Given the description of an element on the screen output the (x, y) to click on. 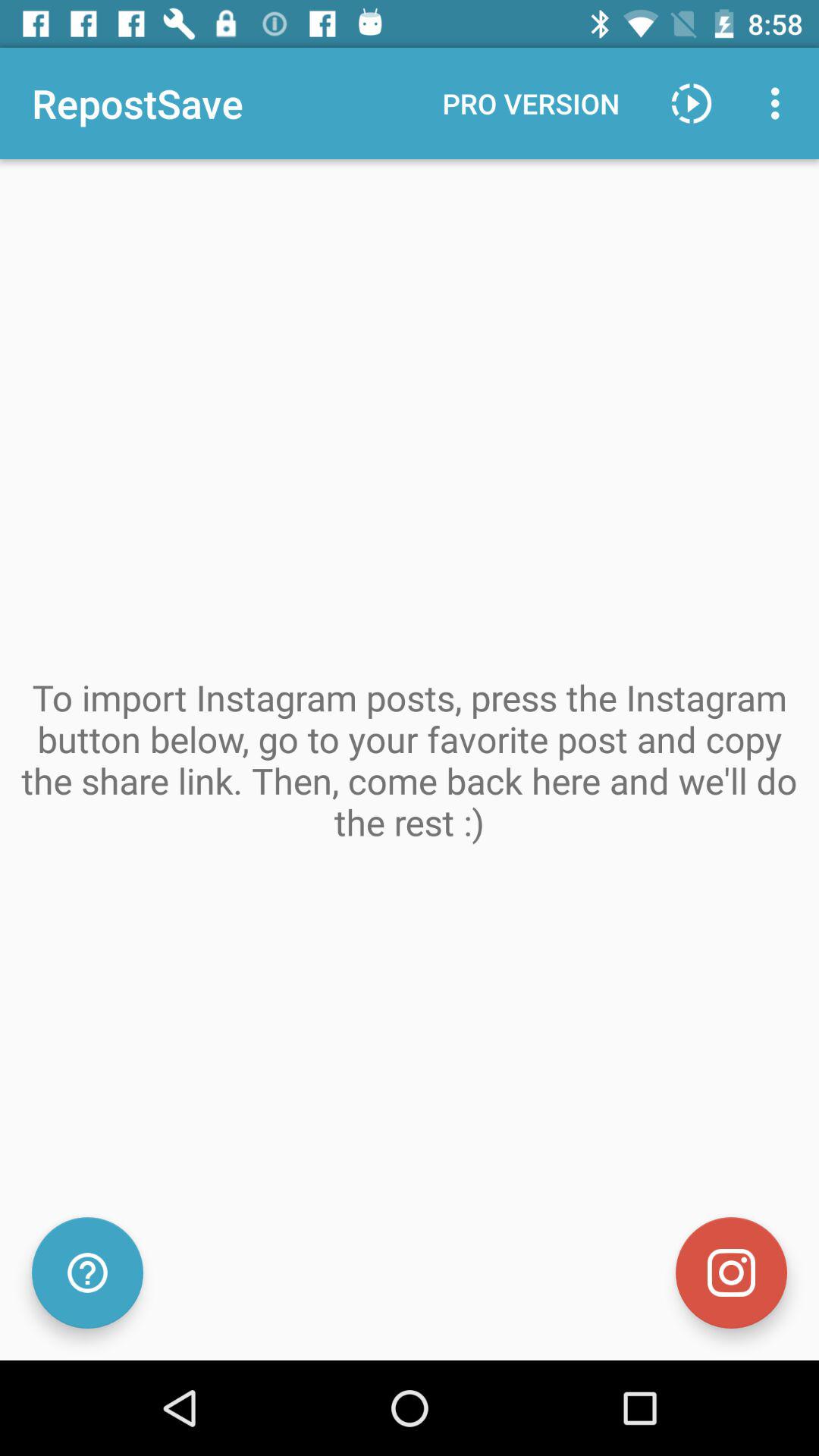
camera image (731, 1272)
